Given the description of an element on the screen output the (x, y) to click on. 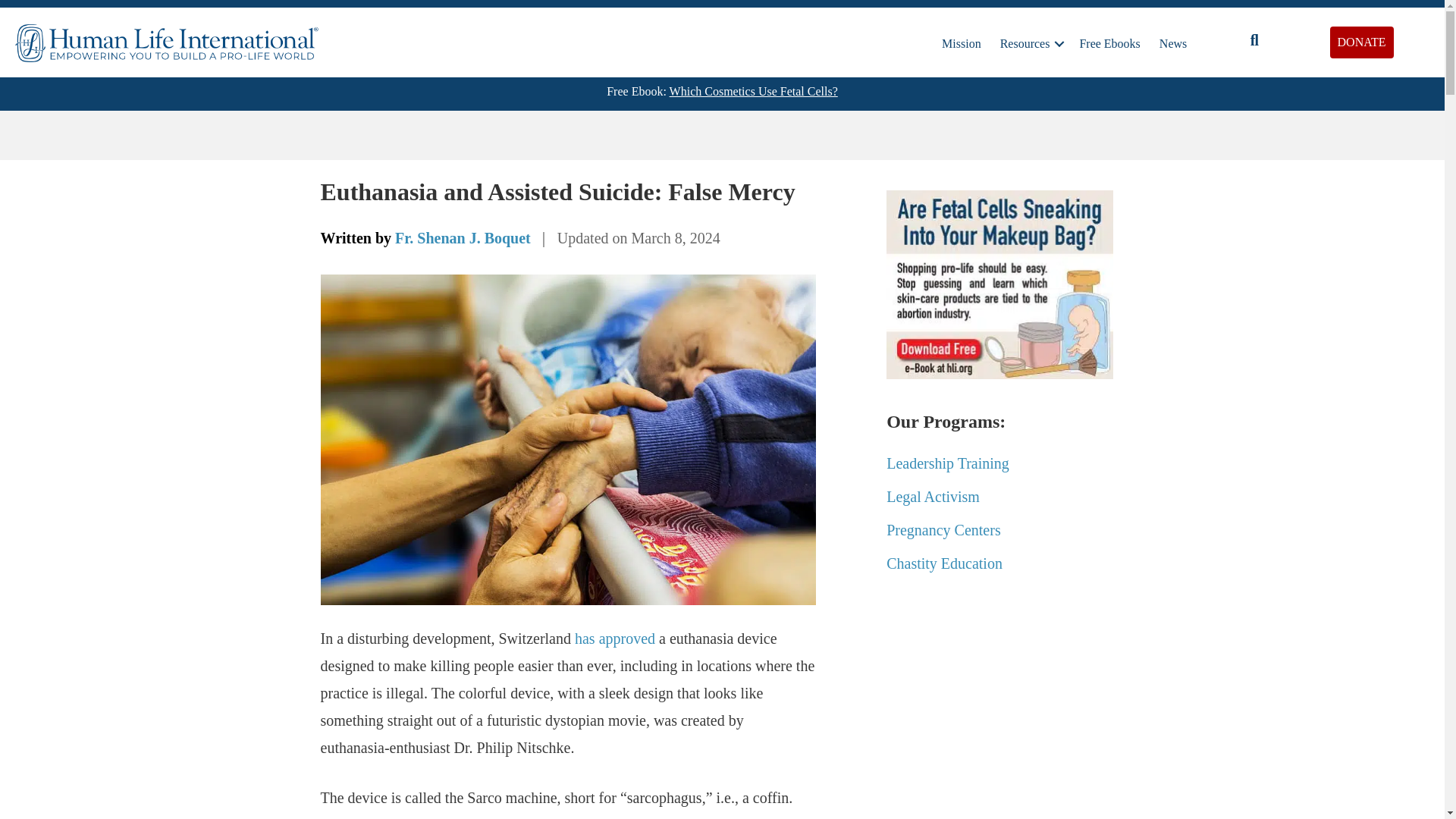
DONATE (1361, 42)
Masthead 2022 Empowering You 541 (166, 34)
News (1172, 43)
has approved (615, 638)
Which Cosmetics Use Fetal Cells? (753, 91)
Resources (1030, 43)
Free Ebooks (1109, 43)
Fr. Shenan J. Boquet (462, 238)
Mission (961, 43)
